Given the description of an element on the screen output the (x, y) to click on. 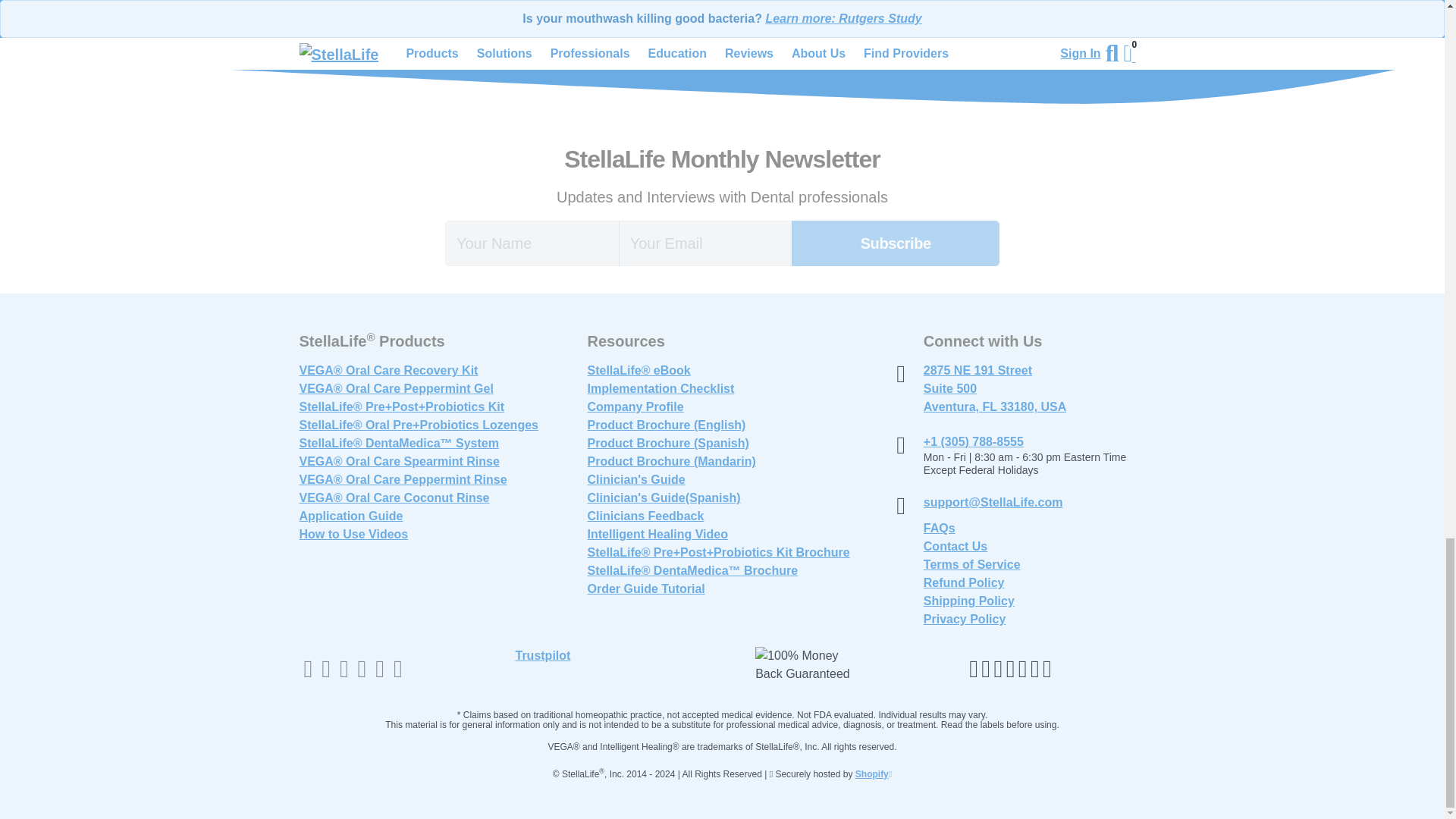
Money Back Guaranteed (806, 665)
Subscribe (895, 243)
